Given the description of an element on the screen output the (x, y) to click on. 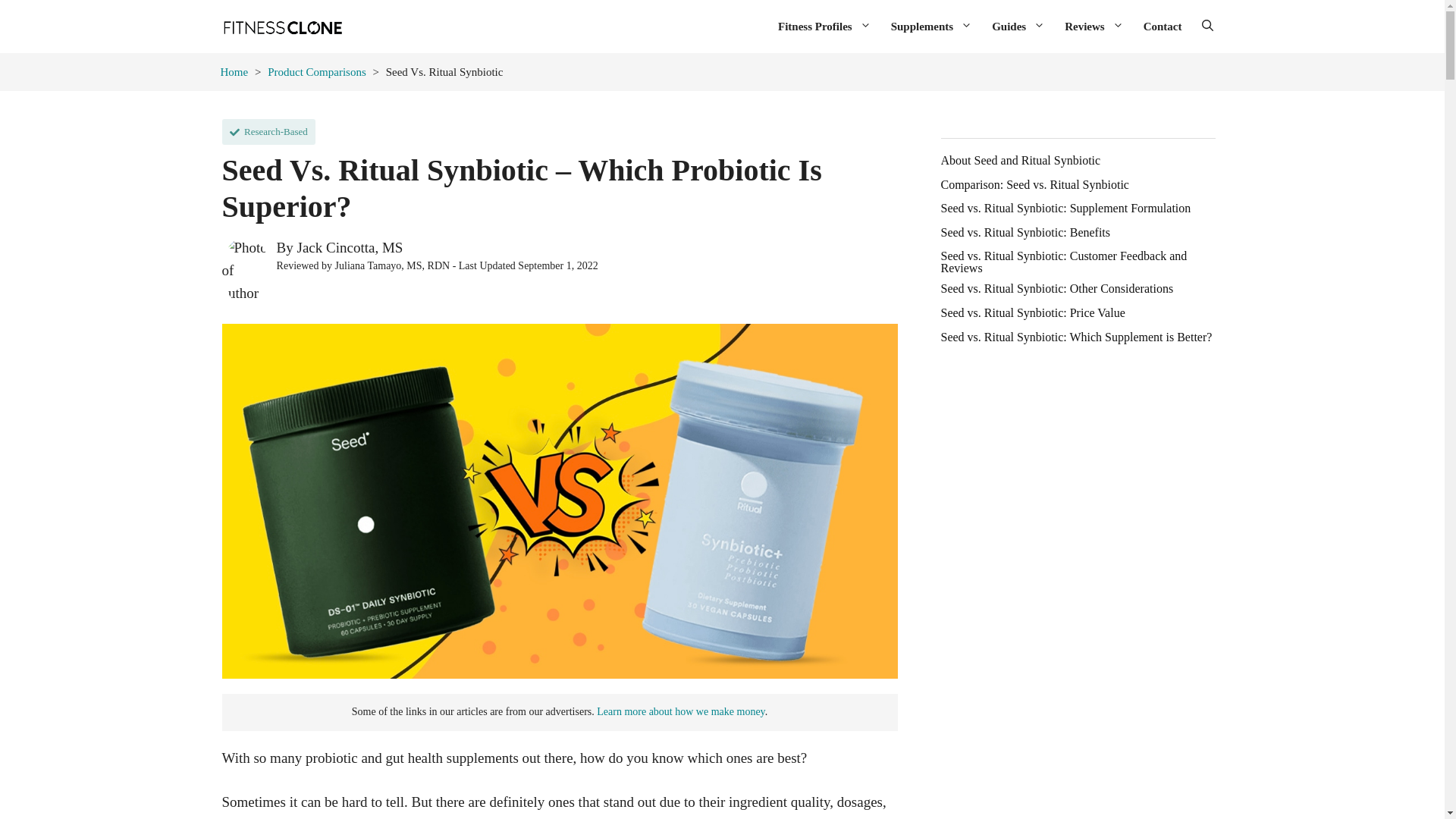
Seed vs. Ritual Synbiotic: Customer Feedback and Reviews (1077, 262)
Comparison: Seed vs. Ritual Synbiotic (1034, 184)
About Seed and Ritual Synbiotic (1020, 160)
Seed vs. Ritual Synbiotic: Supplement Formulation (1065, 208)
Seed vs. Ritual Synbiotic: Price Value (1032, 313)
Guides (1017, 25)
Supplements (931, 25)
Seed vs. Ritual Synbiotic: Which Supplement is Better? (1075, 337)
Fitness Profiles (824, 25)
Reviews (1094, 25)
